Given the description of an element on the screen output the (x, y) to click on. 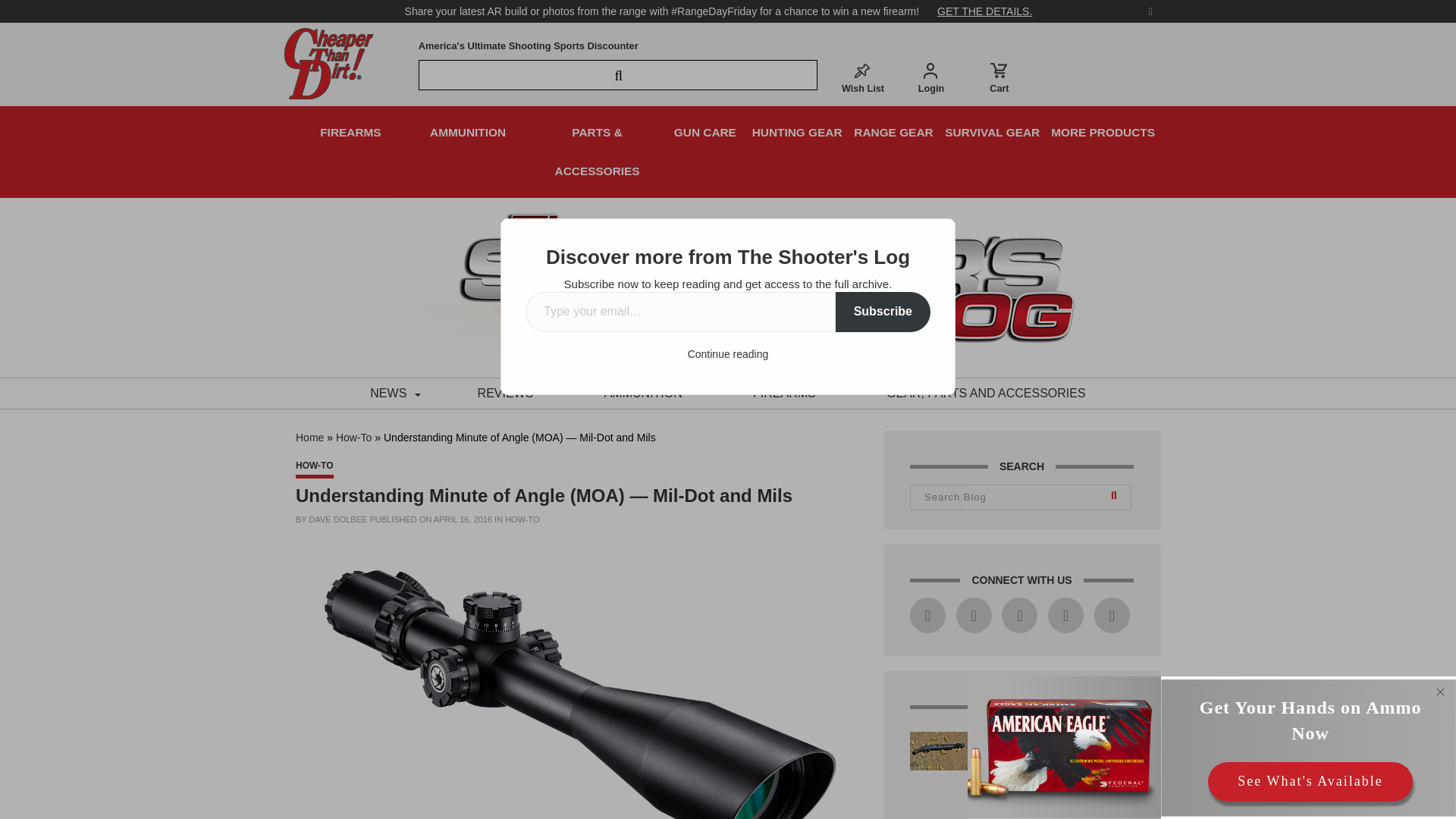
HUNTING GEAR (796, 132)
AMMUNITION (643, 393)
Login (931, 77)
Ammunition (643, 393)
cheaper-than-dirt brand (328, 62)
Cart (999, 77)
SURVIVAL GEAR (992, 132)
NEWS (387, 393)
Firearms (783, 393)
REVIEWS (505, 393)
Search (1116, 497)
RANGE GEAR (893, 132)
GEAR, PARTS AND ACCESSORIES (986, 393)
Gear, Parts and Accessories (986, 393)
News (387, 393)
